Given the description of an element on the screen output the (x, y) to click on. 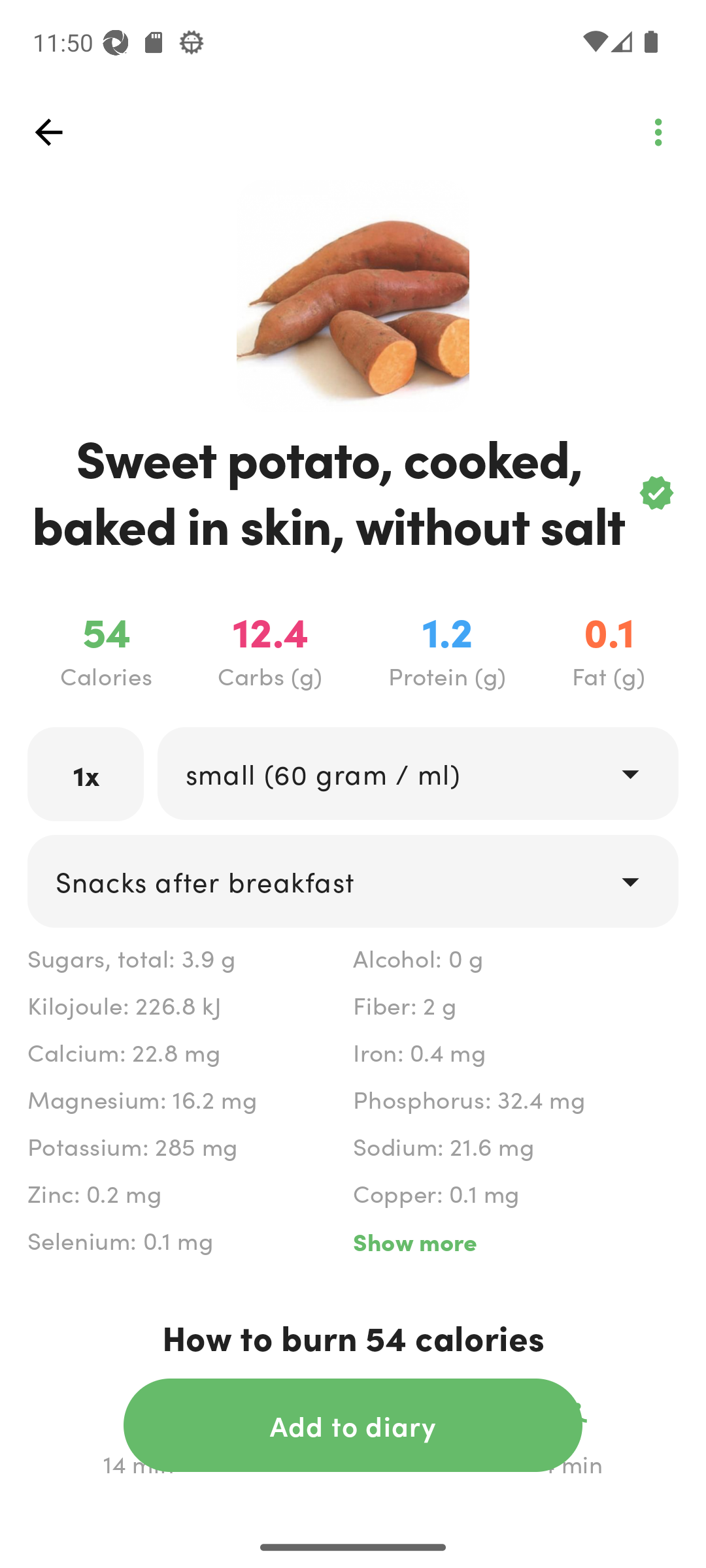
top_left_action (48, 132)
top_left_action (658, 132)
1x labeled_edit_text (85, 774)
drop_down small (60 gram / ml) (417, 773)
drop_down Snacks after breakfast (352, 881)
Show more (515, 1240)
action_button Add to diary (352, 1425)
